Given the description of an element on the screen output the (x, y) to click on. 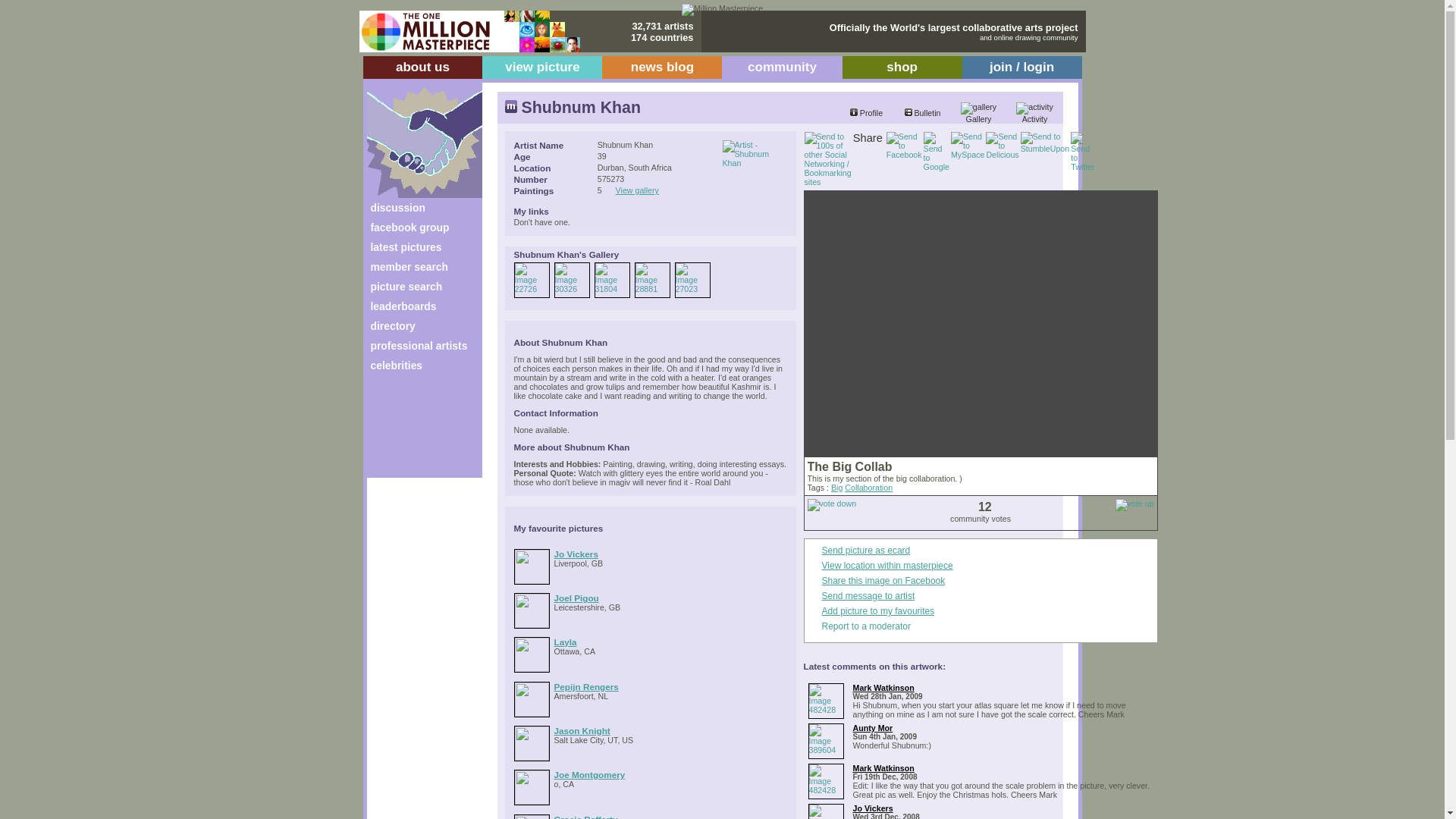
professional artists (418, 345)
Send to Delicious (1001, 144)
Shubnum Khan's Gallery (650, 255)
shop (901, 66)
leaderboards (402, 306)
latest pictures (405, 246)
member search (407, 266)
Bulletin (922, 112)
facebook group (408, 227)
Send to Facebook (903, 144)
Joel Pigou (575, 597)
Send to Twitter (1082, 151)
Jason Knight (581, 730)
Pepijn Rengers (585, 686)
discussion (397, 207)
